Given the description of an element on the screen output the (x, y) to click on. 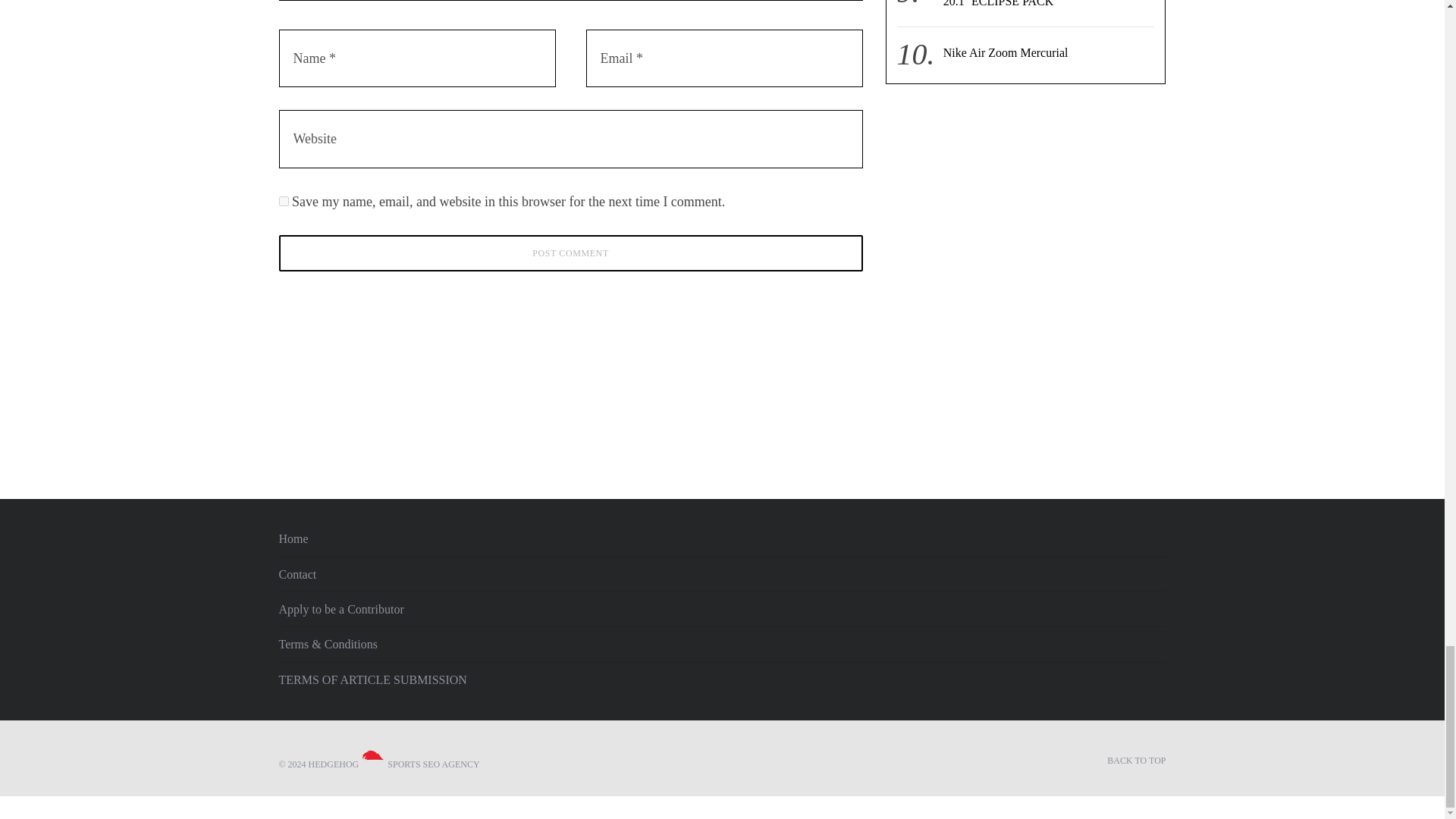
yes (283, 201)
Post Comment (571, 253)
